Given the description of an element on the screen output the (x, y) to click on. 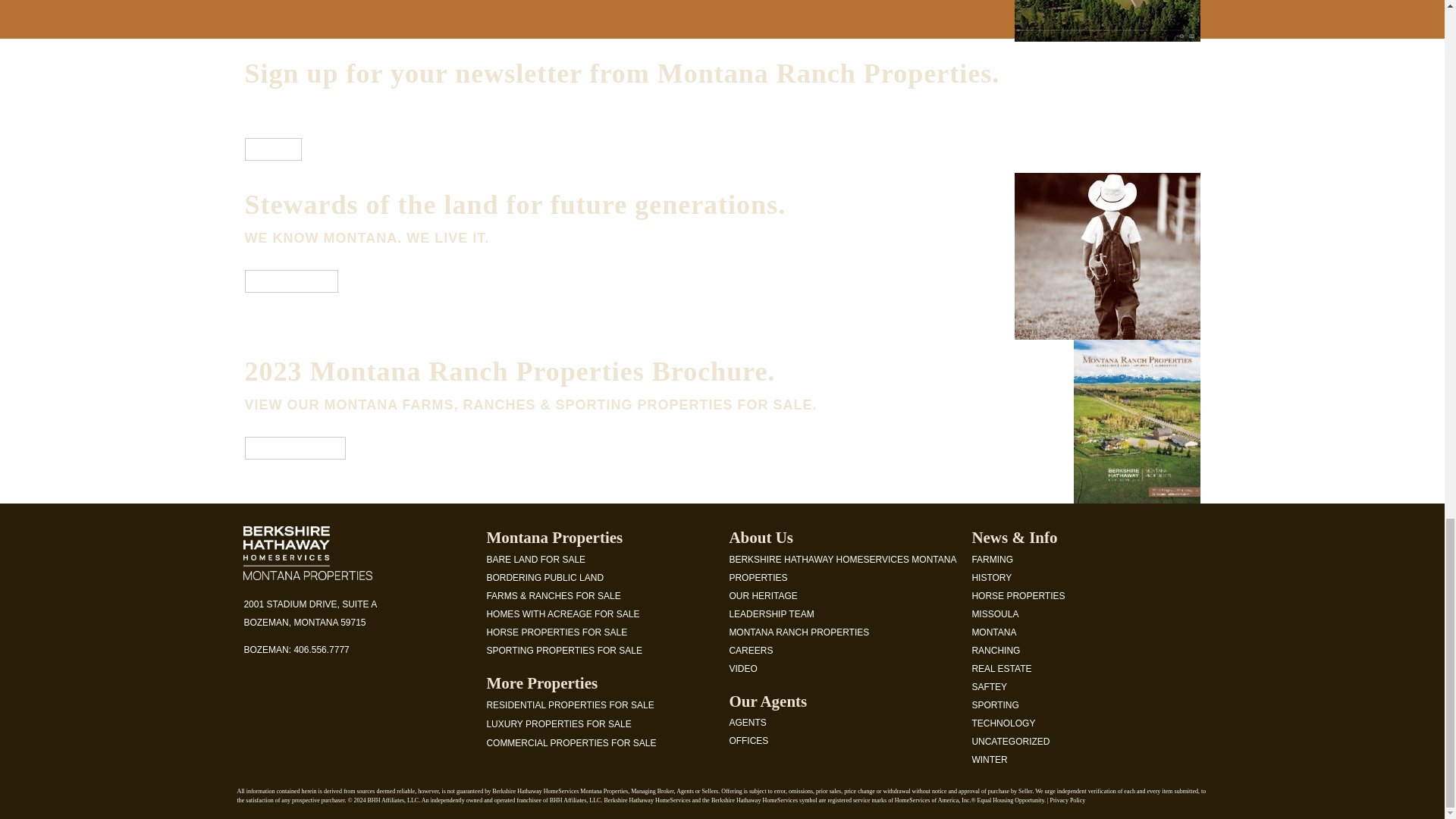
OUR HERITAGE (290, 281)
SIGN UP (272, 149)
BARE LAND FOR SALE (535, 559)
OUR BROCHURE (294, 447)
